Given the description of an element on the screen output the (x, y) to click on. 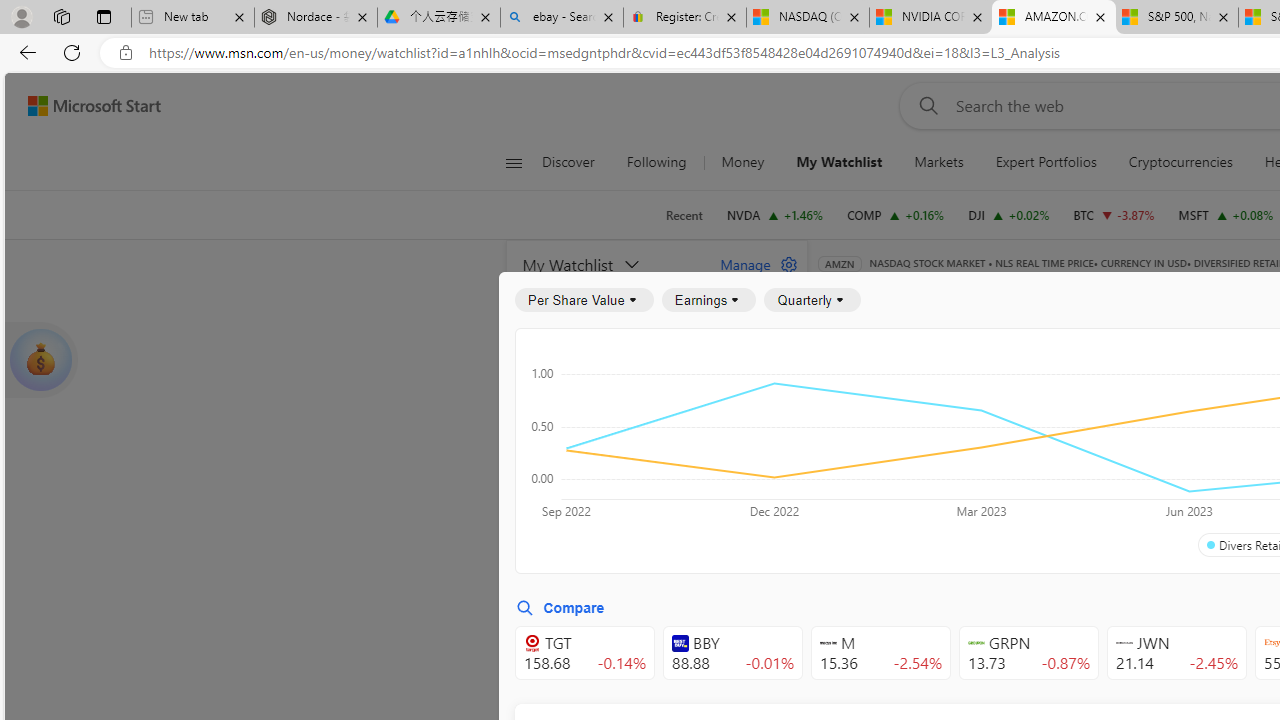
Quarterly (812, 300)
Compare (559, 608)
Cash Flow (1166, 391)
S&P 500, Nasdaq end lower, weighed by Nvidia dip | Watch (1176, 17)
Cryptocurrencies (1179, 162)
